Given the description of an element on the screen output the (x, y) to click on. 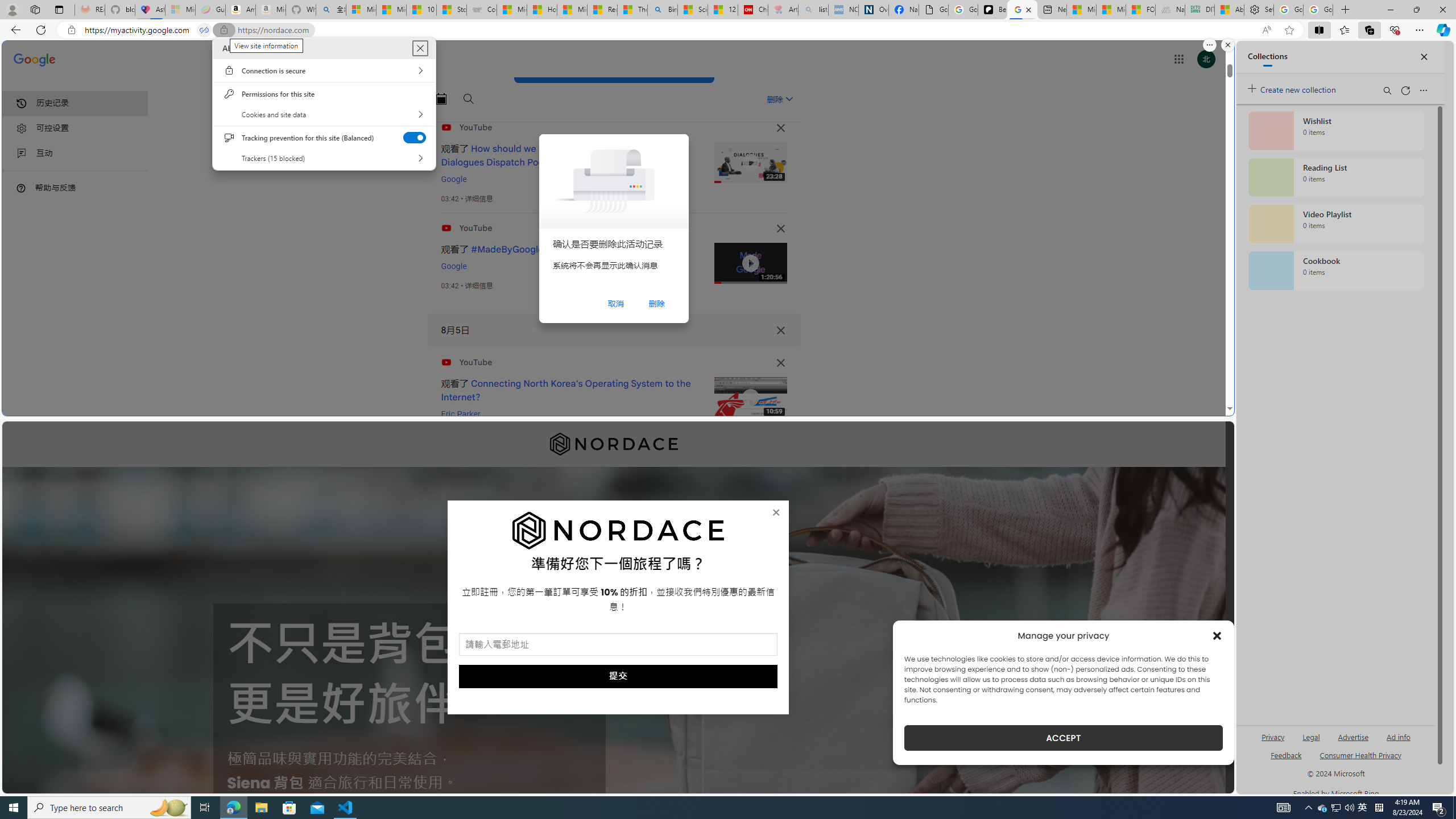
Asthma Inhalers: Names and Types (149, 9)
Cookies and site data (323, 114)
Type here to search (108, 807)
Connection is secure (323, 70)
About nordace.com (420, 48)
Microsoft Store (289, 807)
Refresh (40, 29)
Copilot (Ctrl+Shift+.) (1442, 29)
Close (420, 48)
Split screen (1318, 29)
Eric Parker (460, 414)
New tab (1051, 9)
